Given the description of an element on the screen output the (x, y) to click on. 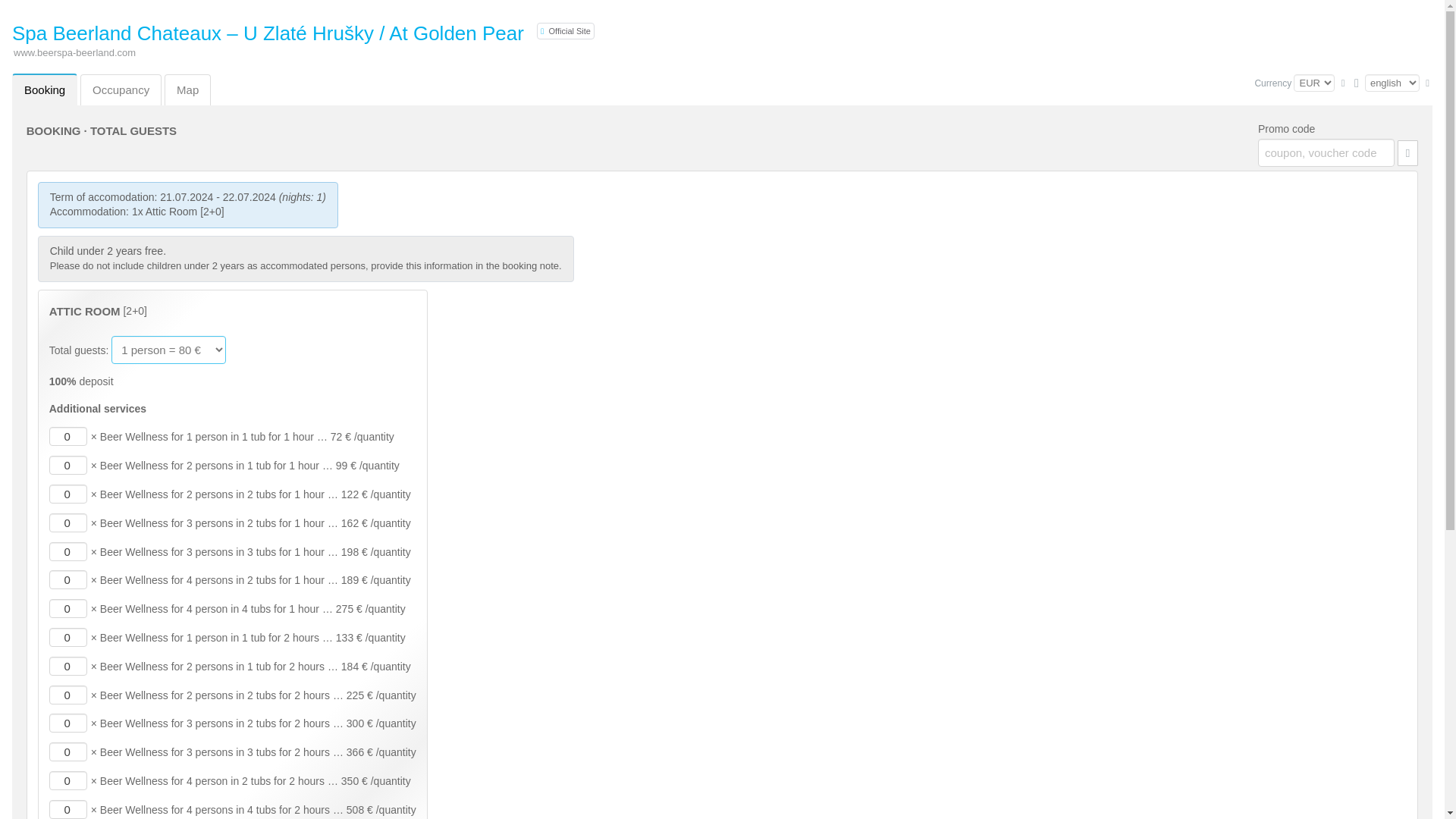
0 (68, 465)
Map (187, 89)
0 (68, 493)
0 (68, 522)
Occupancy (120, 89)
0 (68, 637)
0 (68, 722)
Booking (44, 89)
book here for the lowest prices (565, 30)
0 (68, 751)
0 (68, 809)
0 (68, 608)
www.beerspa-beerland.com (74, 52)
0 (68, 435)
0 (68, 665)
